Given the description of an element on the screen output the (x, y) to click on. 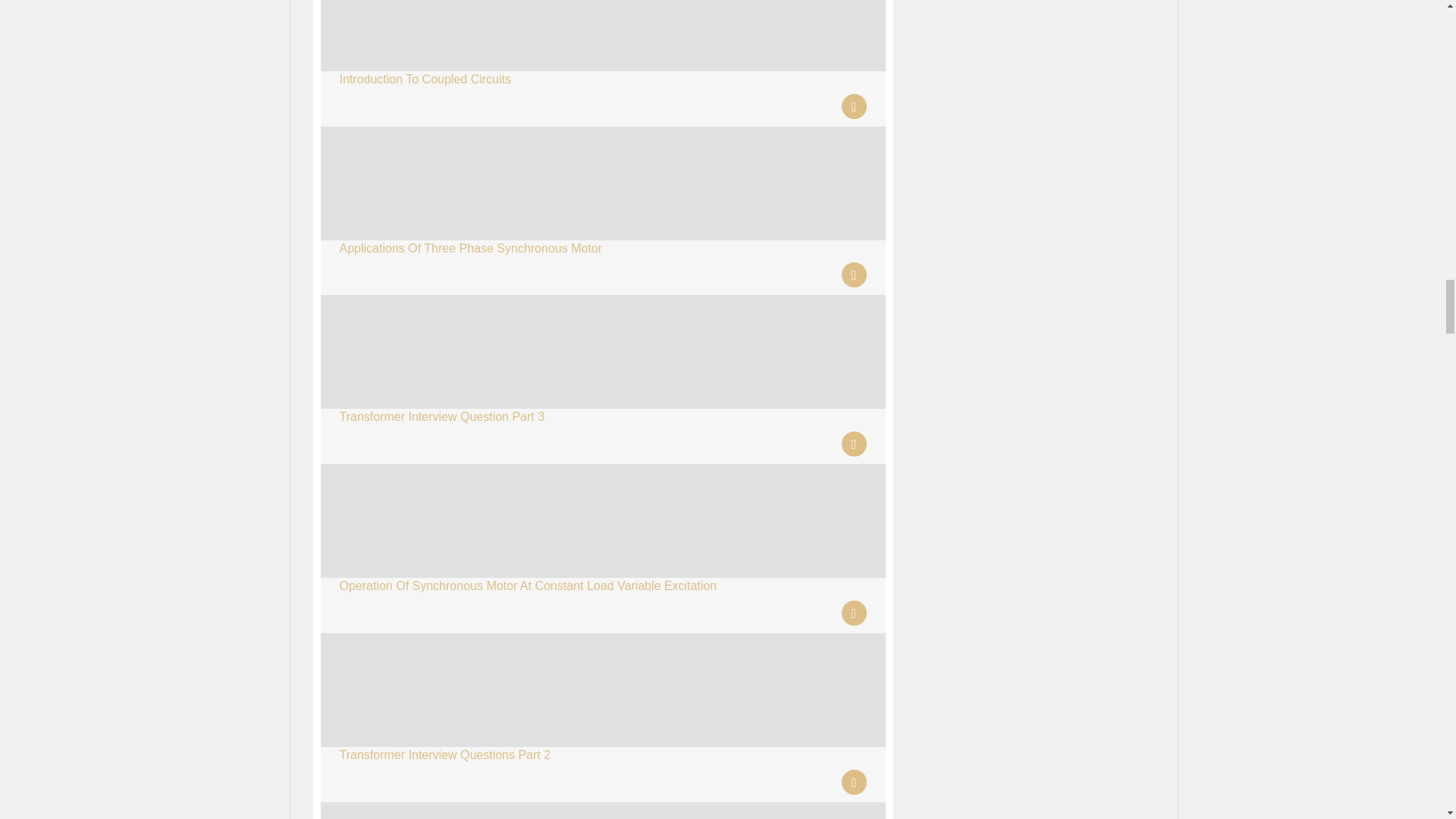
Applications Of Three Phase Synchronous Motor (470, 247)
Introduction To Coupled Circuits (425, 78)
Transformer Interview Question Part 3 (441, 416)
